Given the description of an element on the screen output the (x, y) to click on. 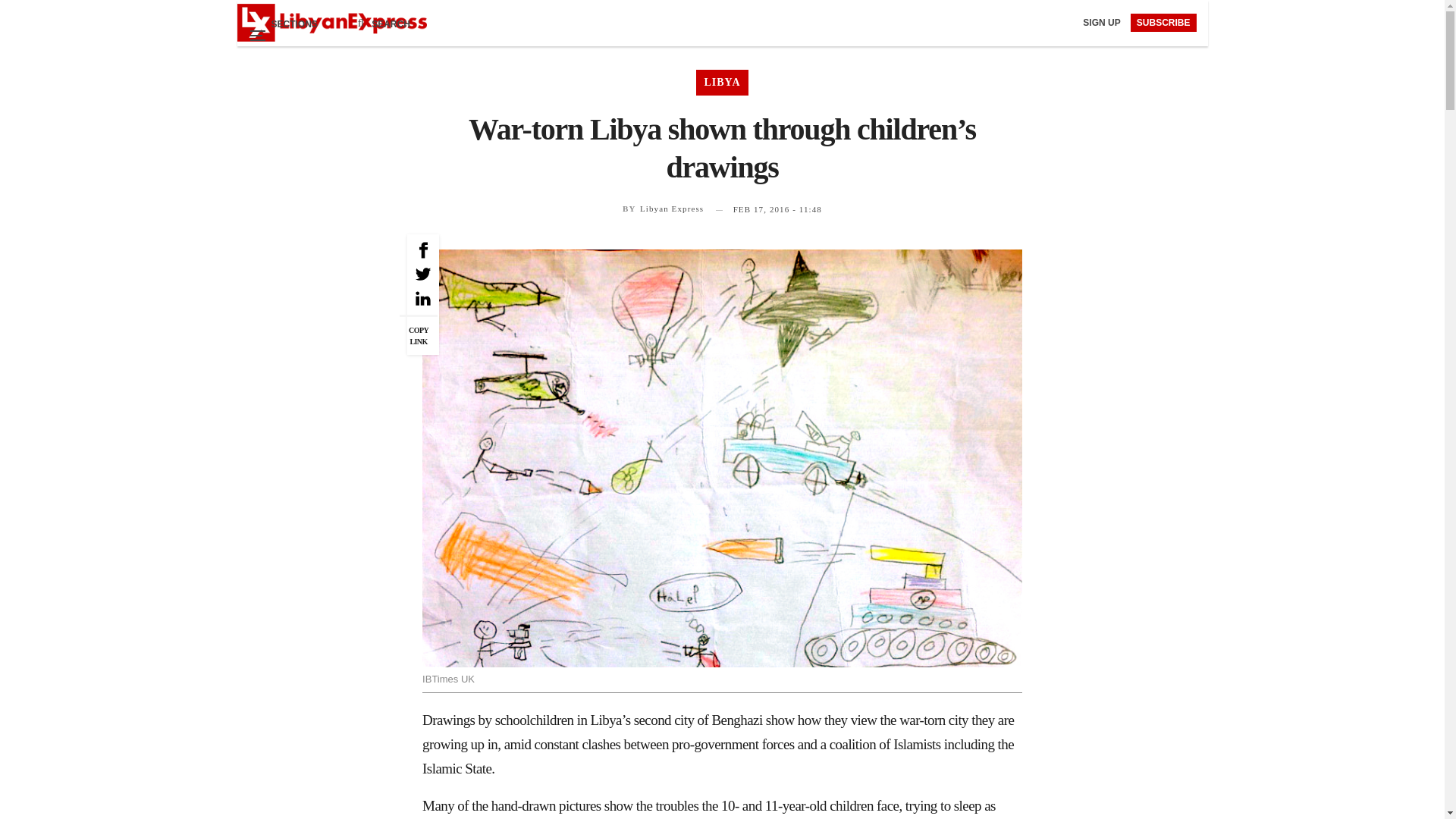
SIGN UP (1102, 22)
SUBSCRIBE (1163, 22)
LIBYA (721, 82)
BY Libyan Express (663, 208)
